Given the description of an element on the screen output the (x, y) to click on. 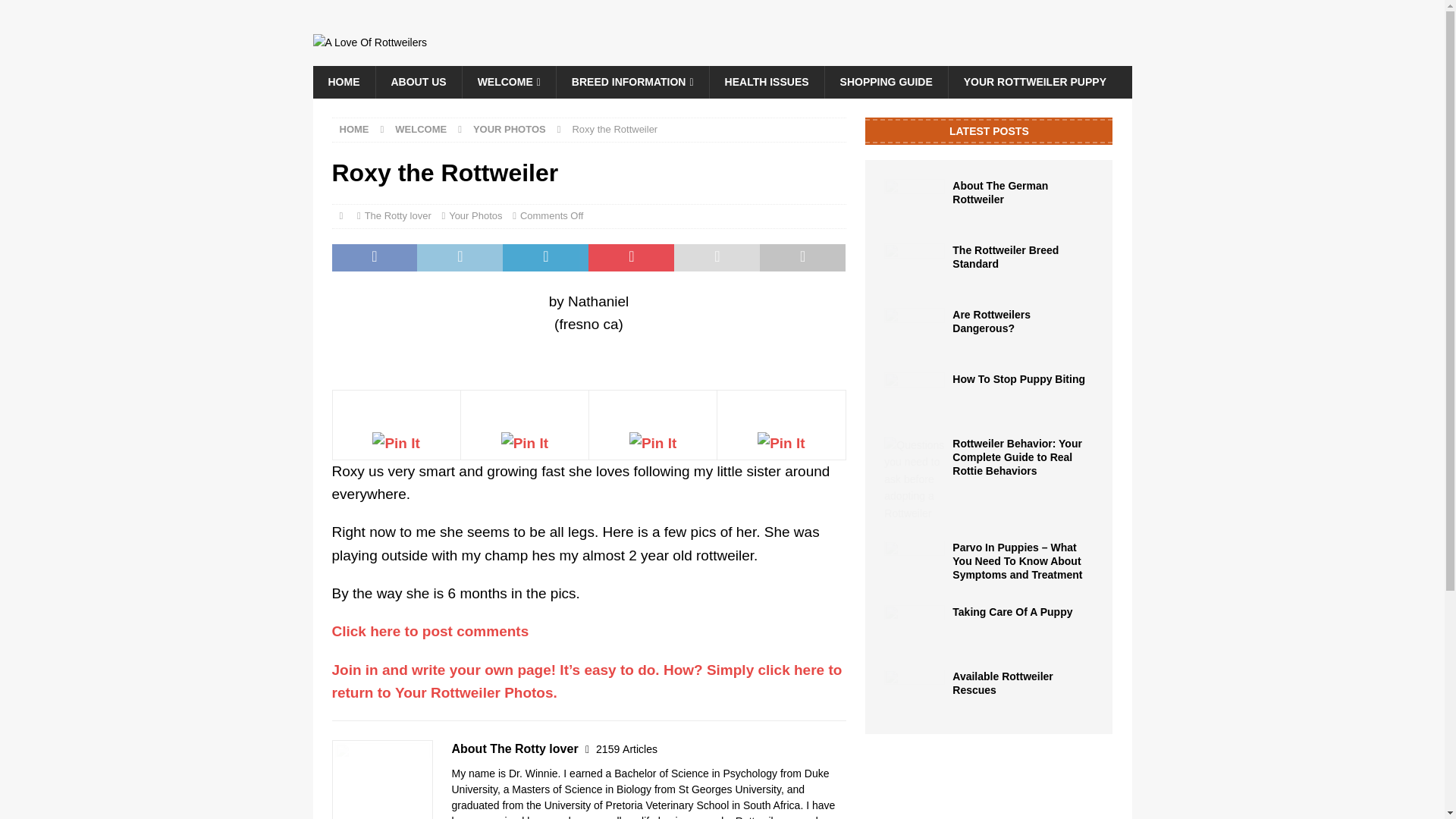
HEALTH ISSUES (766, 81)
BREED INFORMATION (632, 81)
Pin It (652, 443)
SHOPPING GUIDE (885, 81)
Pin It (524, 443)
YOUR PHOTOS (509, 129)
WELCOME (420, 129)
YOUR ROTTWEILER PUPPY (1034, 81)
Pin It (781, 443)
Pin It (395, 443)
